Given the description of an element on the screen output the (x, y) to click on. 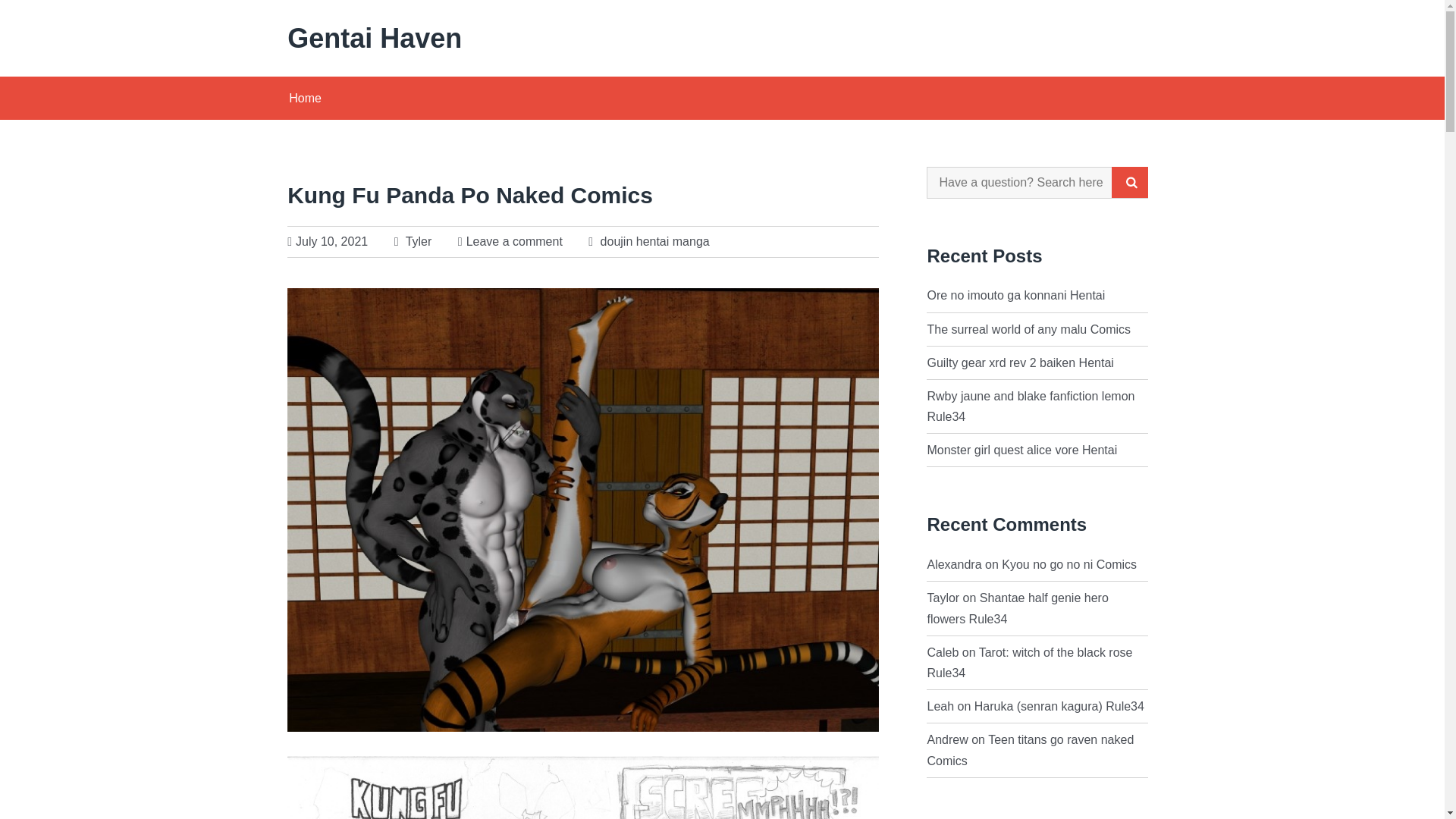
Ore no imouto ga konnani Hentai (1015, 295)
Tyler (413, 241)
Teen titans go raven naked Comics (1030, 749)
Shantae half genie hero flowers Rule34 (1017, 607)
Leave a comment (513, 241)
Search (1130, 182)
Kyou no go no ni Comics (1069, 563)
Monster girl quest alice vore Hentai (1021, 449)
Search (1130, 182)
Guilty gear xrd rev 2 baiken Hentai (1019, 362)
